Given the description of an element on the screen output the (x, y) to click on. 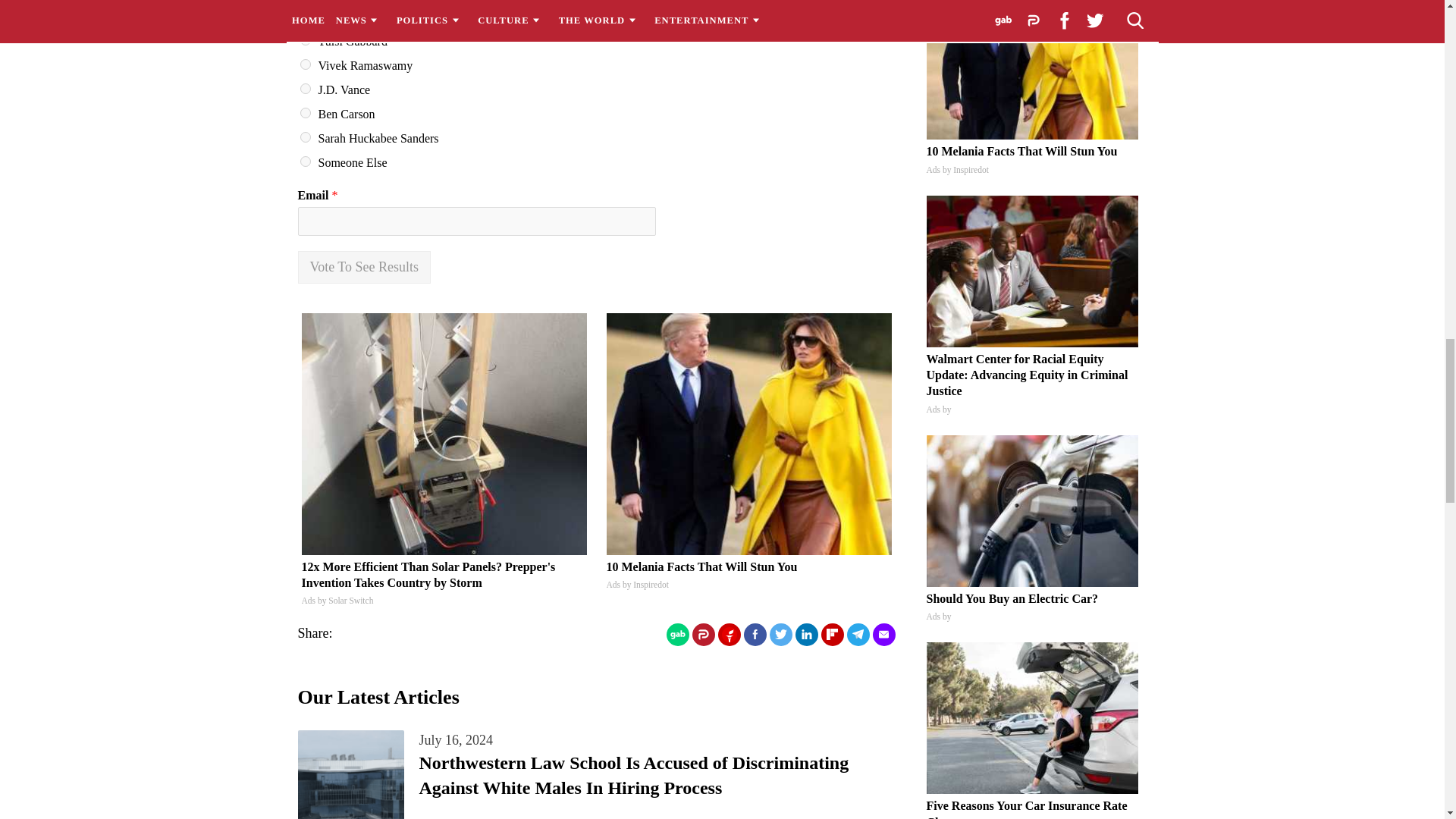
Vivek Ramaswamy (305, 63)
Someone Else (305, 161)
Tulsi Gabbard (305, 40)
J.D. Vance (305, 88)
Sarah Huckabee Sanders (305, 136)
Ben Carson (305, 112)
Elise Stefanik (305, 15)
